Given the description of an element on the screen output the (x, y) to click on. 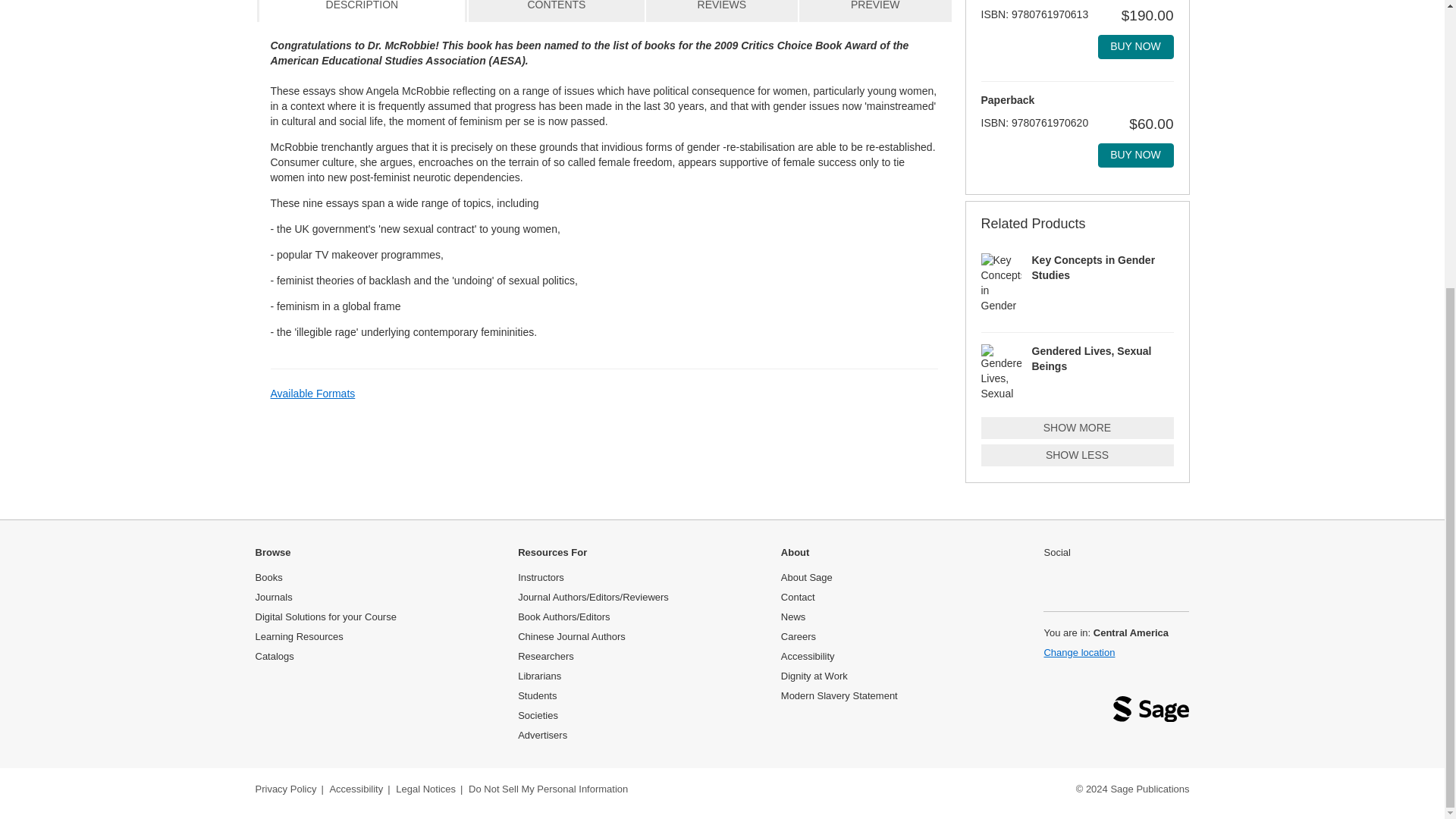
Buy now (1135, 46)
Sage logo: link back to homepage (1151, 712)
Buy now (1135, 155)
Catalogs (274, 655)
